Given the description of an element on the screen output the (x, y) to click on. 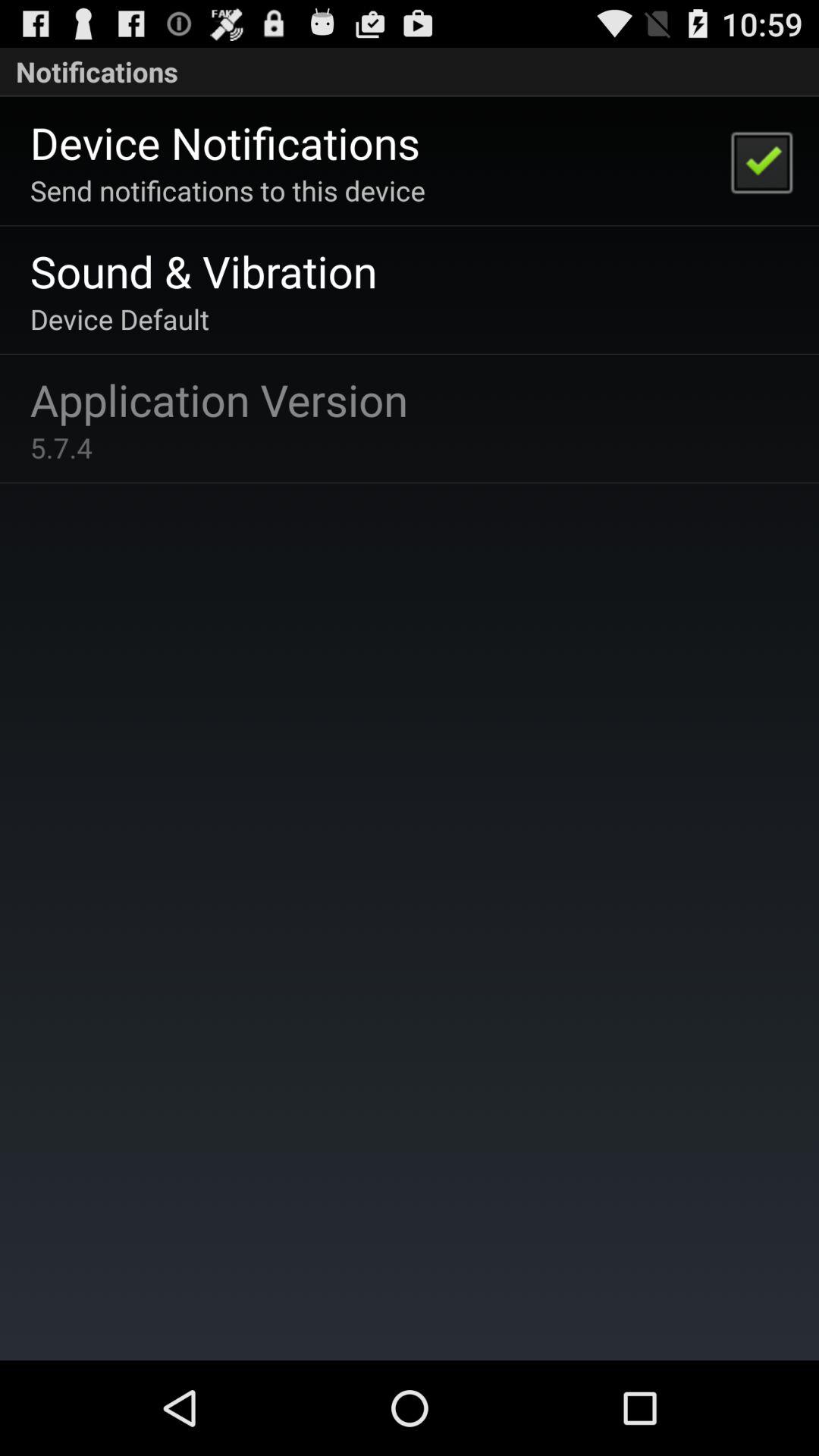
swipe until send notifications to app (227, 190)
